Given the description of an element on the screen output the (x, y) to click on. 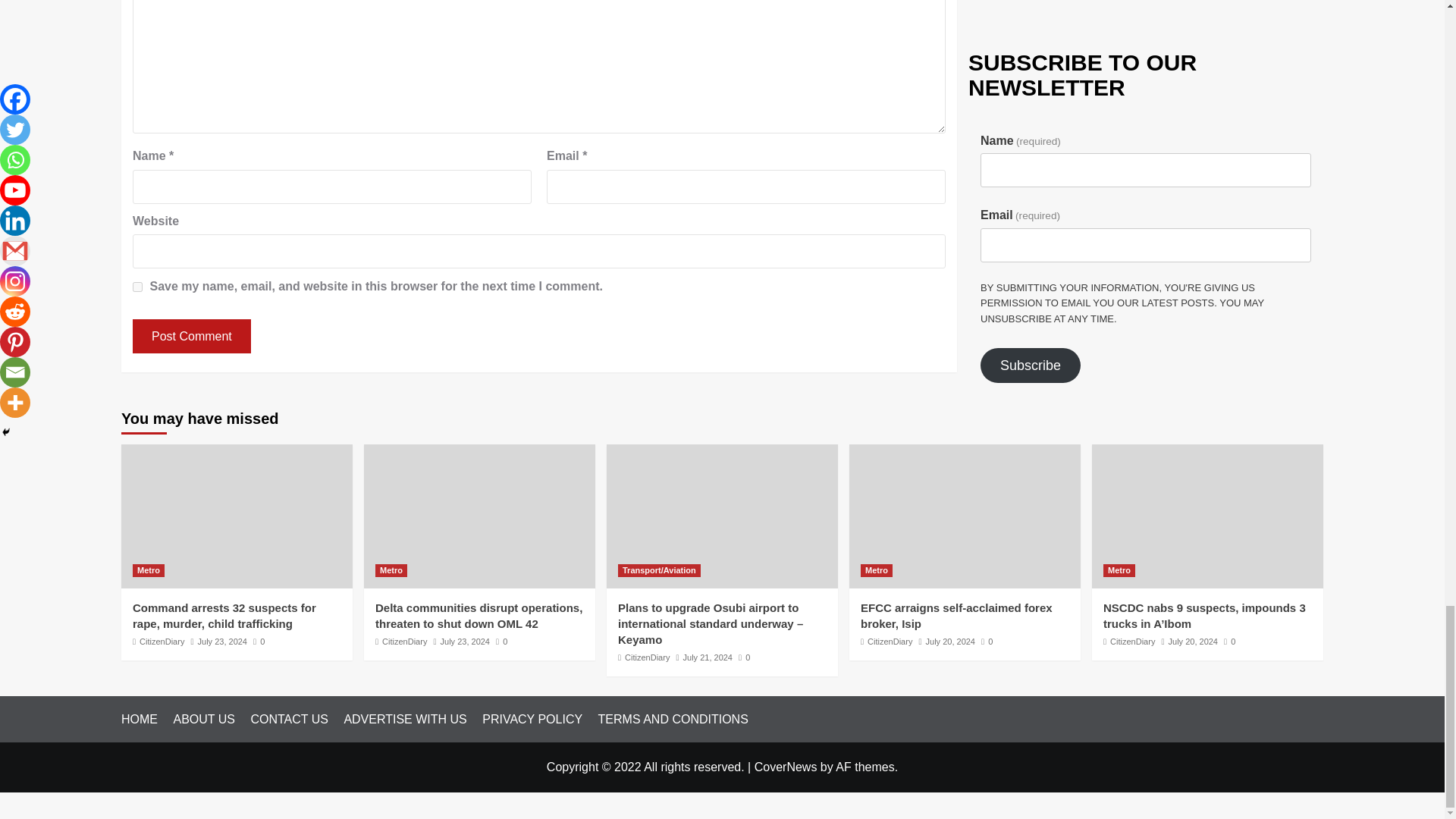
yes (137, 286)
Post Comment (191, 335)
